Given the description of an element on the screen output the (x, y) to click on. 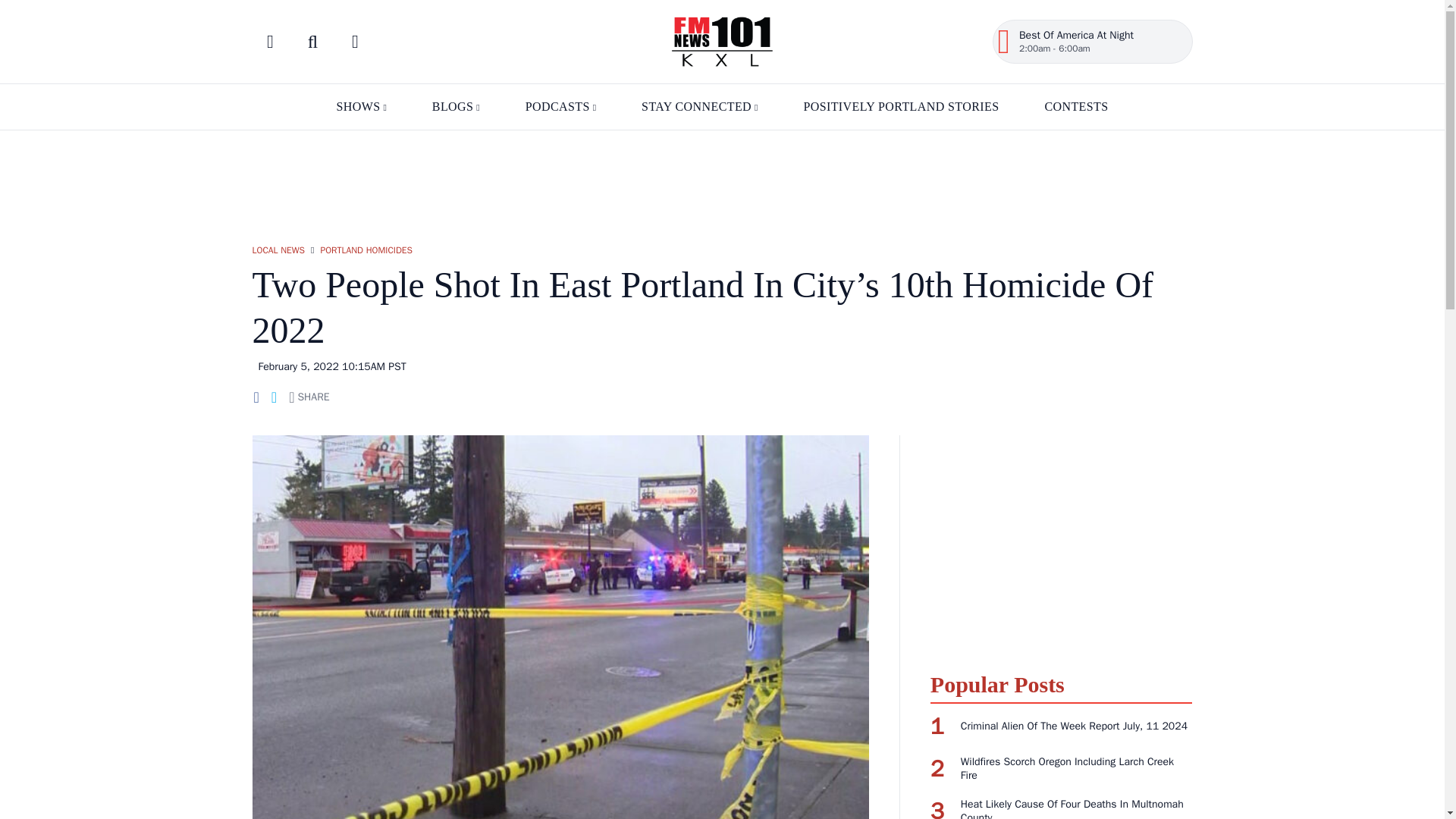
3rd party ad content (1060, 544)
3rd party ad content (721, 179)
